Given the description of an element on the screen output the (x, y) to click on. 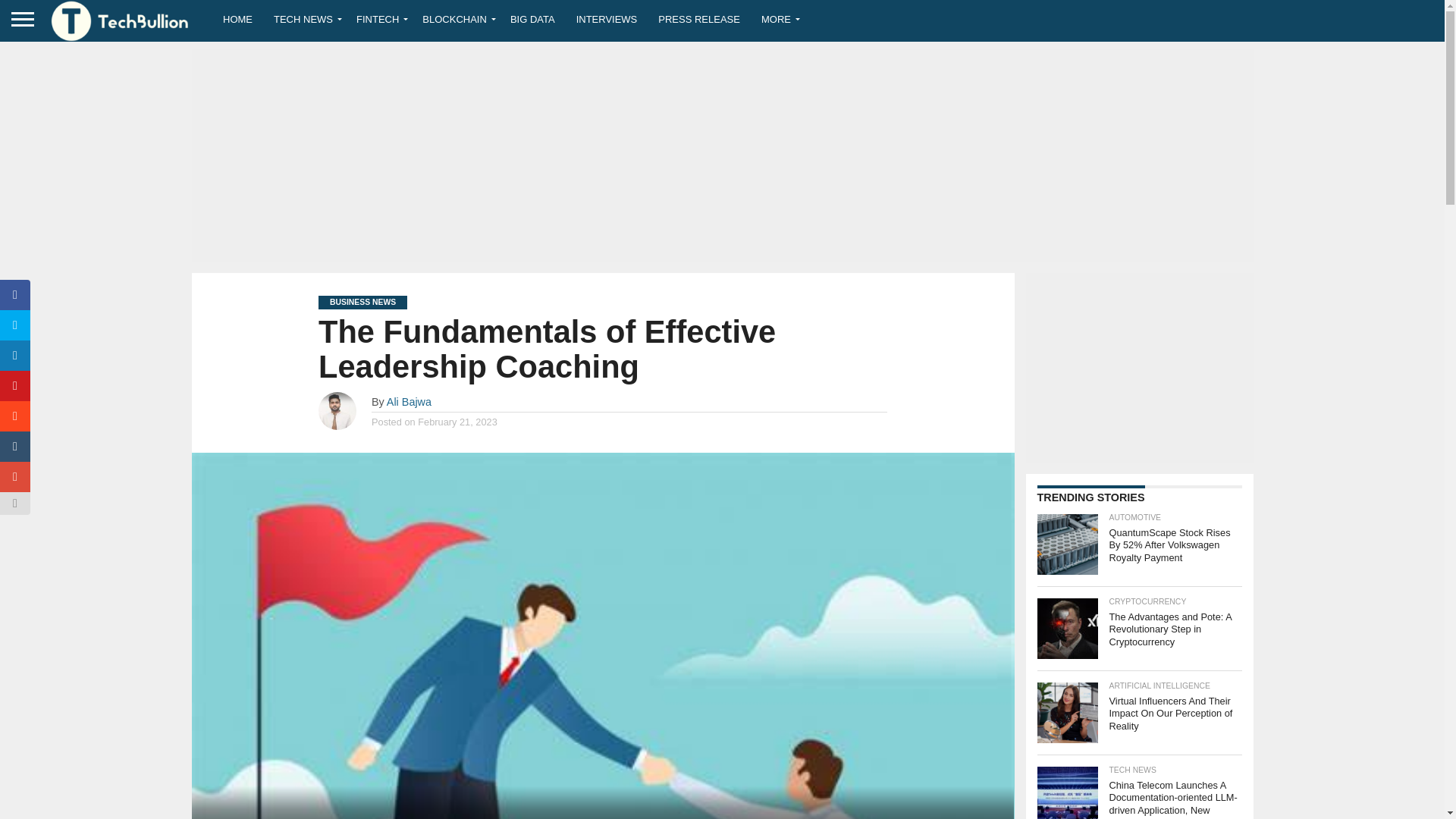
Advertisement (1138, 367)
Posts by Ali Bajwa (408, 401)
